Given the description of an element on the screen output the (x, y) to click on. 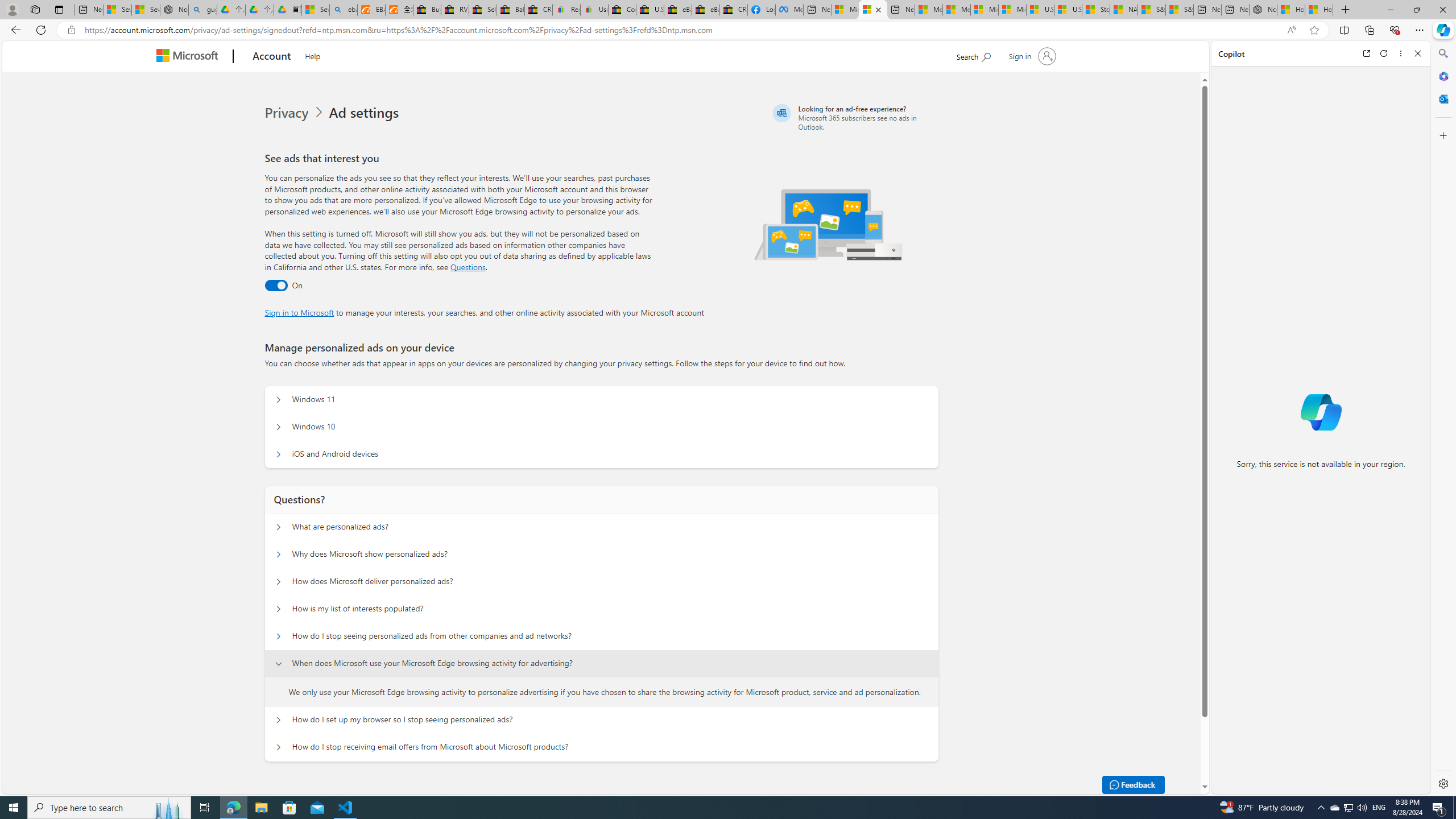
User Privacy Notice | eBay (593, 9)
Questions? How does Microsoft deliver personalized ads? (278, 581)
U.S. State Privacy Disclosures - eBay Inc. (649, 9)
Sign in to Microsoft (299, 311)
Looking for an ad-free experience? (854, 117)
